Given the description of an element on the screen output the (x, y) to click on. 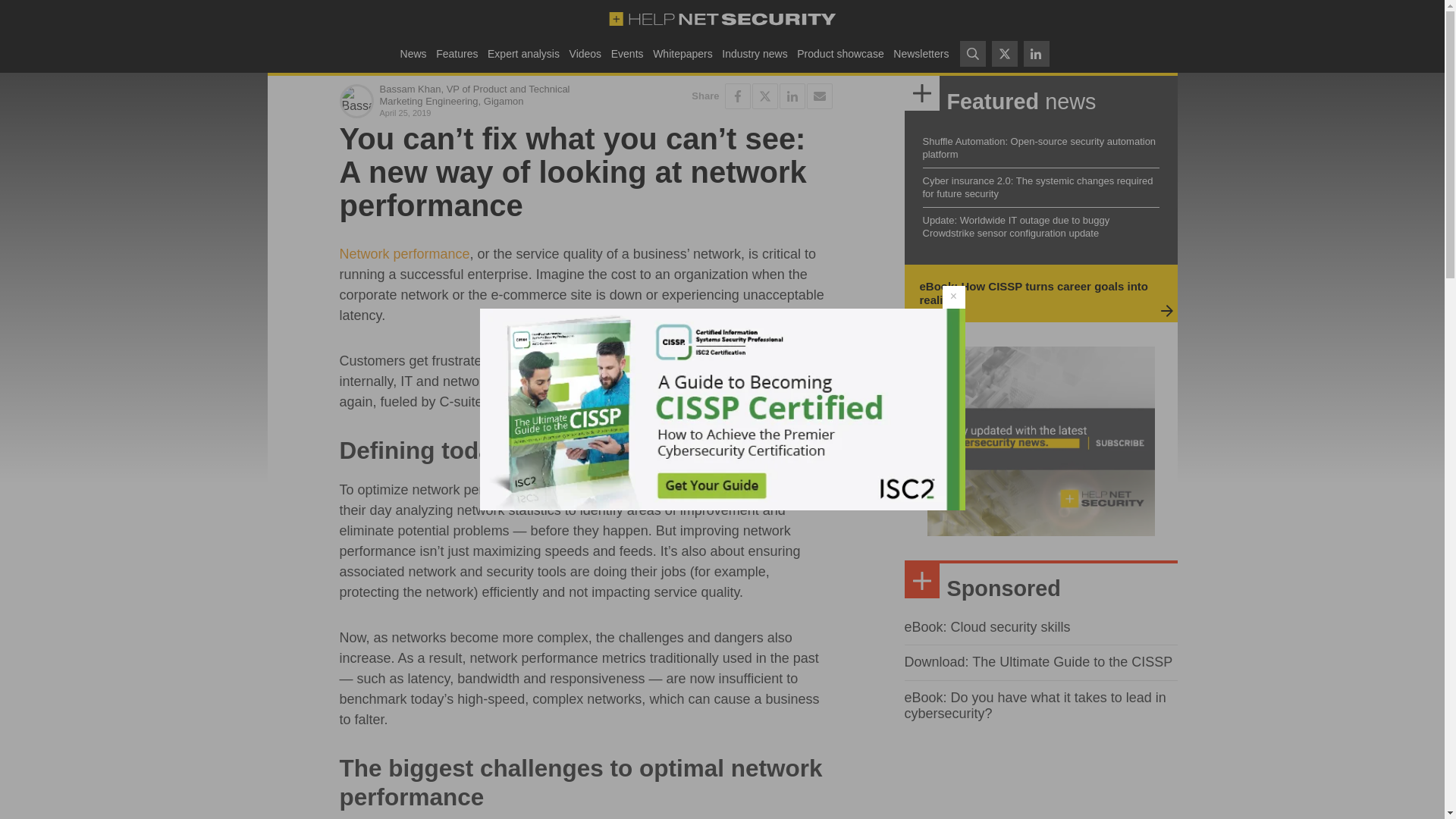
eBook: How CISSP turns career goals into reality (1032, 293)
Download: The Ultimate Guide to the CISSP (1038, 661)
Shuffle Automation: Open-source security automation platform (1038, 147)
eBook: Do you have what it takes to lead in cybersecurity? (1035, 705)
Features (456, 53)
Network performance (404, 253)
Videos (584, 53)
Events (626, 53)
Whitepapers (682, 53)
News (412, 53)
Newsletters (920, 53)
Expert analysis (523, 53)
April 25, 2019 (478, 112)
